Given the description of an element on the screen output the (x, y) to click on. 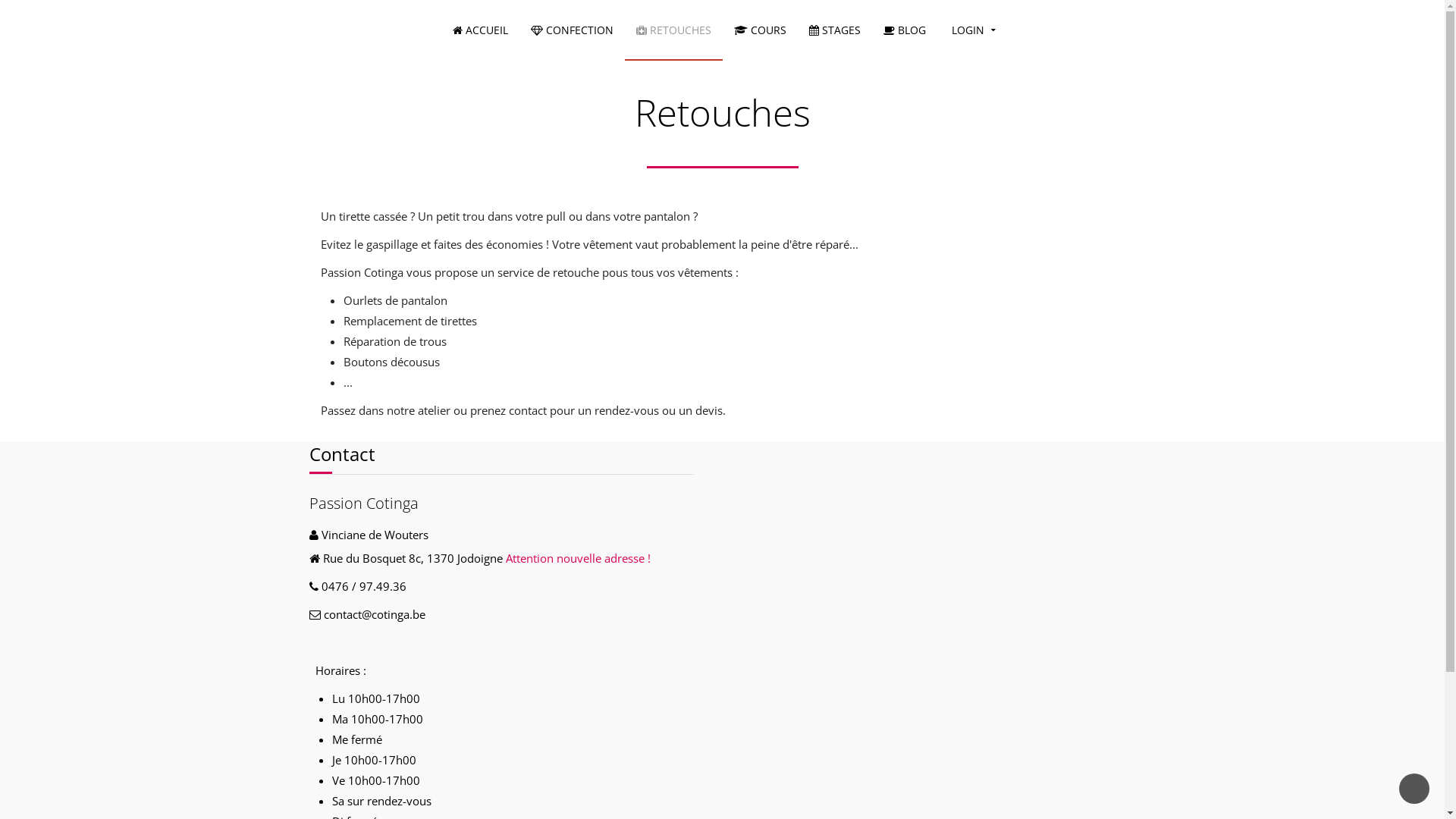
ACCUEIL Element type: text (480, 30)
STAGES Element type: text (834, 30)
BLOG Element type: text (904, 30)
RETOUCHES Element type: text (673, 30)
CONFECTION Element type: text (571, 30)
COURS Element type: text (759, 30)
LOGIN Element type: text (971, 30)
